Given the description of an element on the screen output the (x, y) to click on. 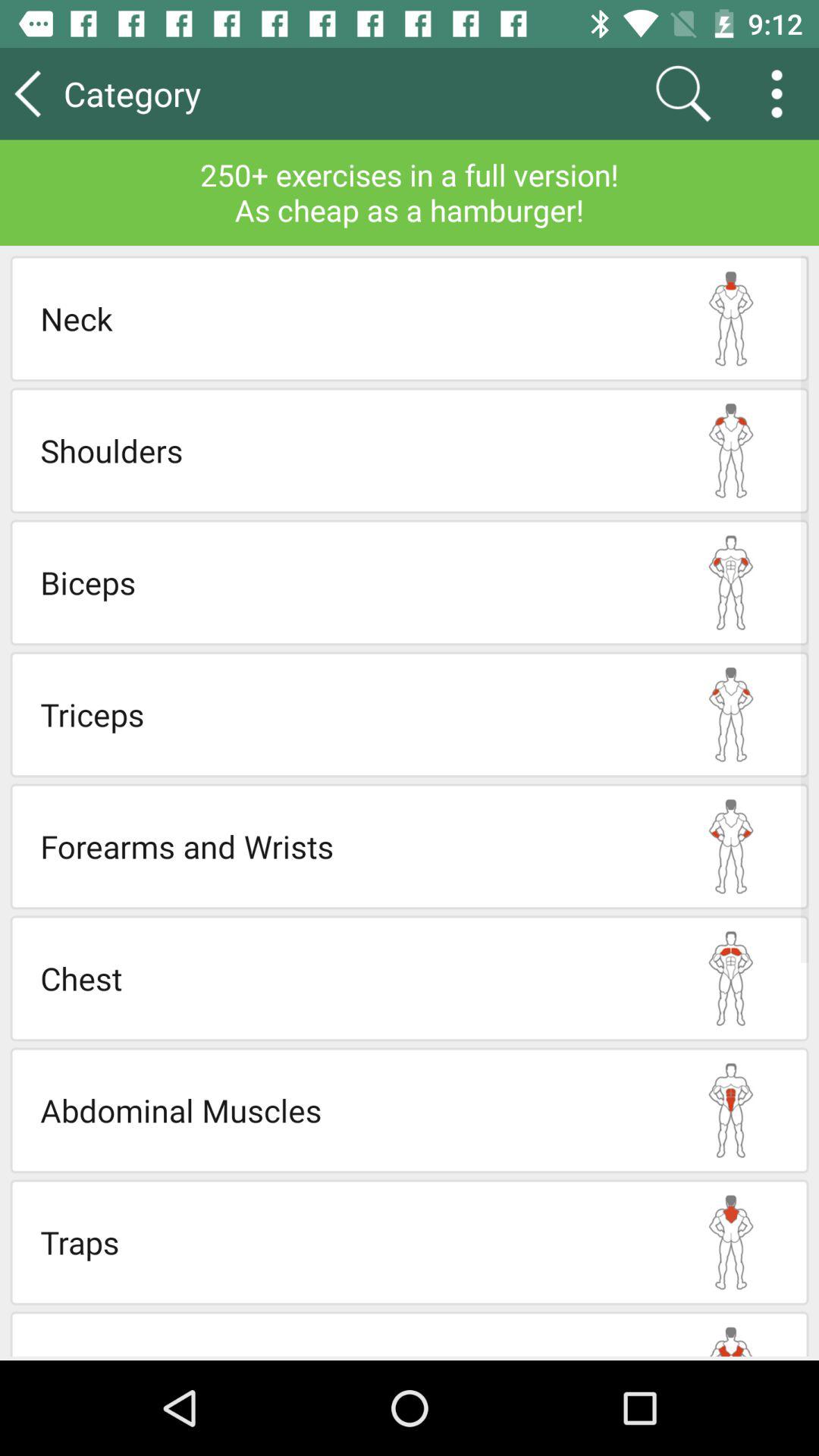
swipe until the traps icon (346, 1242)
